Given the description of an element on the screen output the (x, y) to click on. 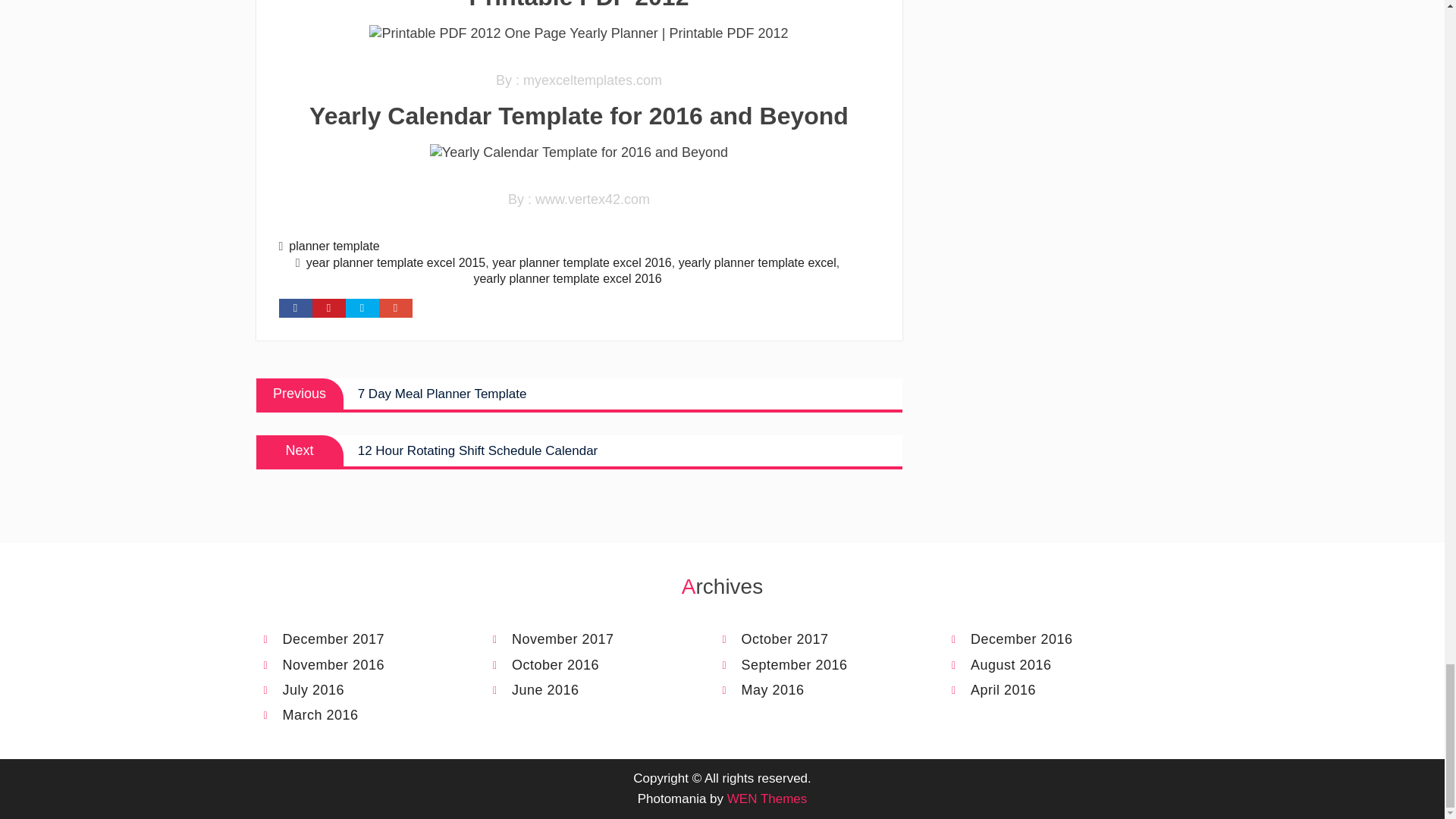
planner template (333, 245)
year planner template excel 2016 (581, 262)
November 2016 (579, 393)
yearly planner template excel 2016 (352, 665)
December 2017 (567, 278)
November 2017 (352, 639)
Yearly Calendar Template for 2016 and Beyond (581, 639)
yearly planner template excel (578, 152)
December 2016 (756, 262)
